Given the description of an element on the screen output the (x, y) to click on. 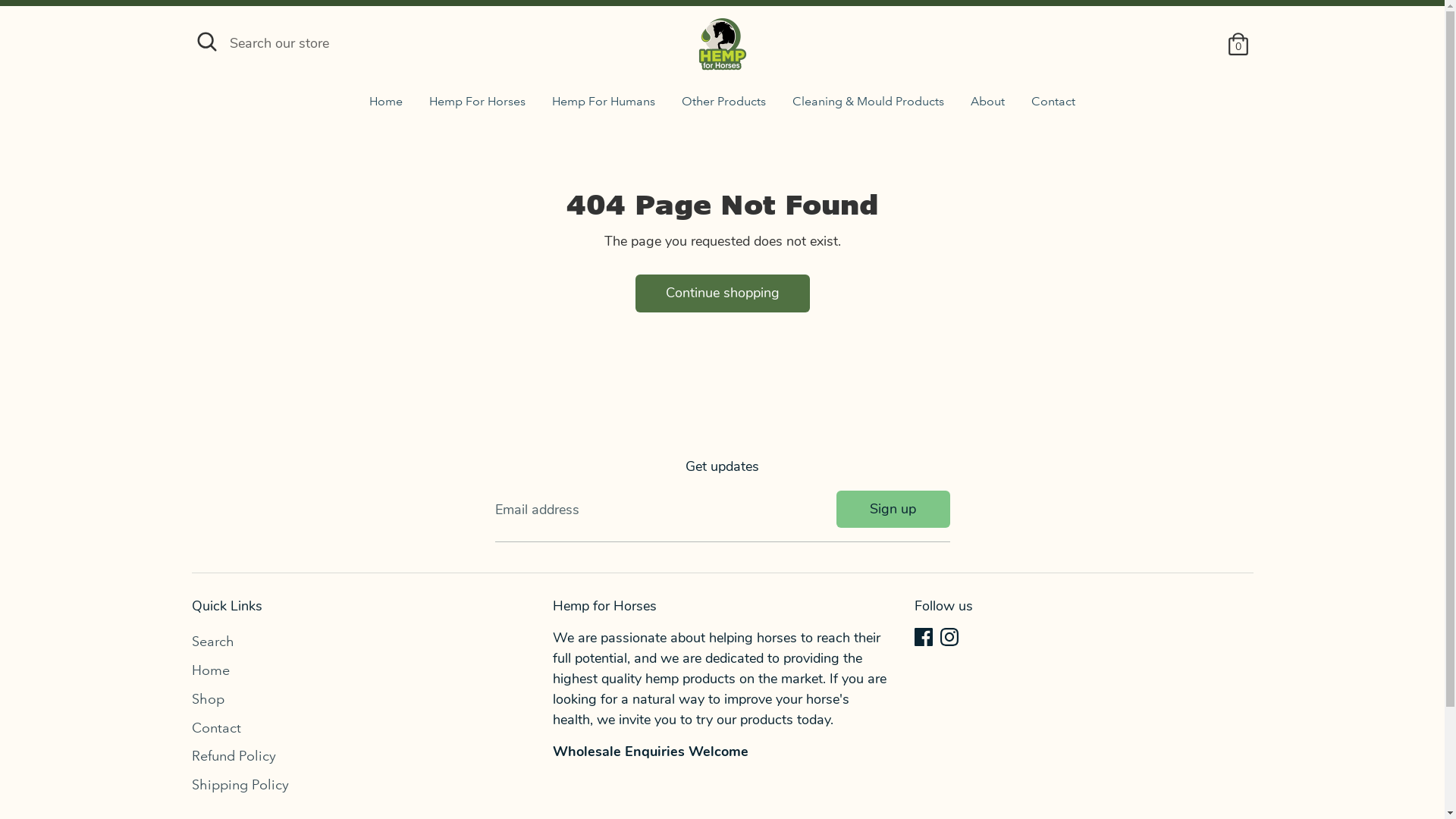
Search Element type: text (212, 641)
Other Products Element type: text (723, 105)
Contact Element type: text (215, 727)
Shop Element type: text (207, 698)
Contact Element type: text (1052, 105)
Hemp For Humans Element type: text (603, 105)
Refund Policy Element type: text (233, 755)
Sign up Element type: text (893, 509)
Home Element type: text (210, 670)
Home Element type: text (385, 105)
Hemp For Horses Element type: text (476, 105)
About Element type: text (987, 105)
Shipping Policy Element type: text (239, 784)
0 Element type: text (1237, 43)
Continue shopping Element type: text (721, 292)
Cleaning & Mould Products Element type: text (868, 105)
